Given the description of an element on the screen output the (x, y) to click on. 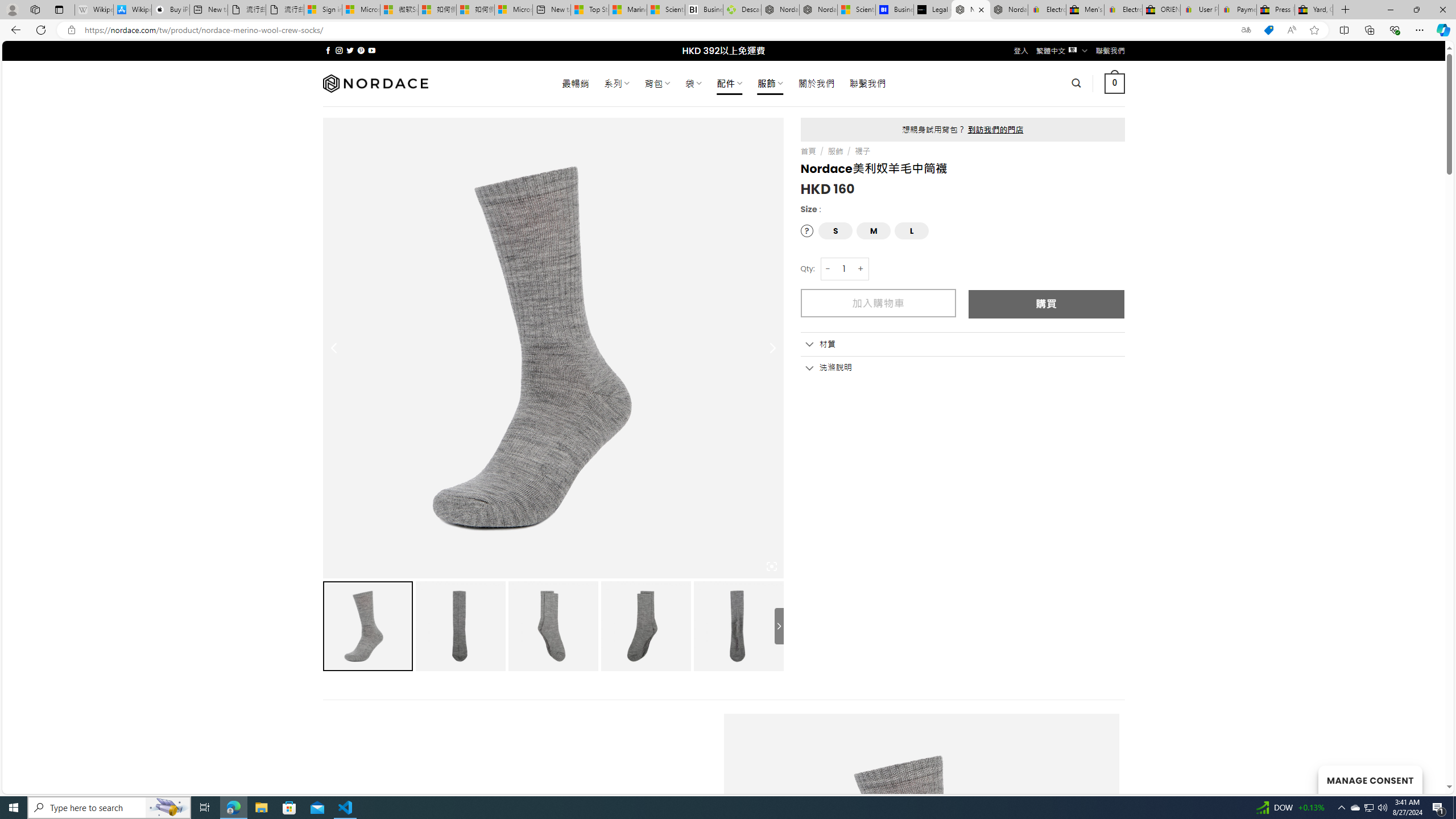
Top Stories - MSN (589, 9)
